Given the description of an element on the screen output the (x, y) to click on. 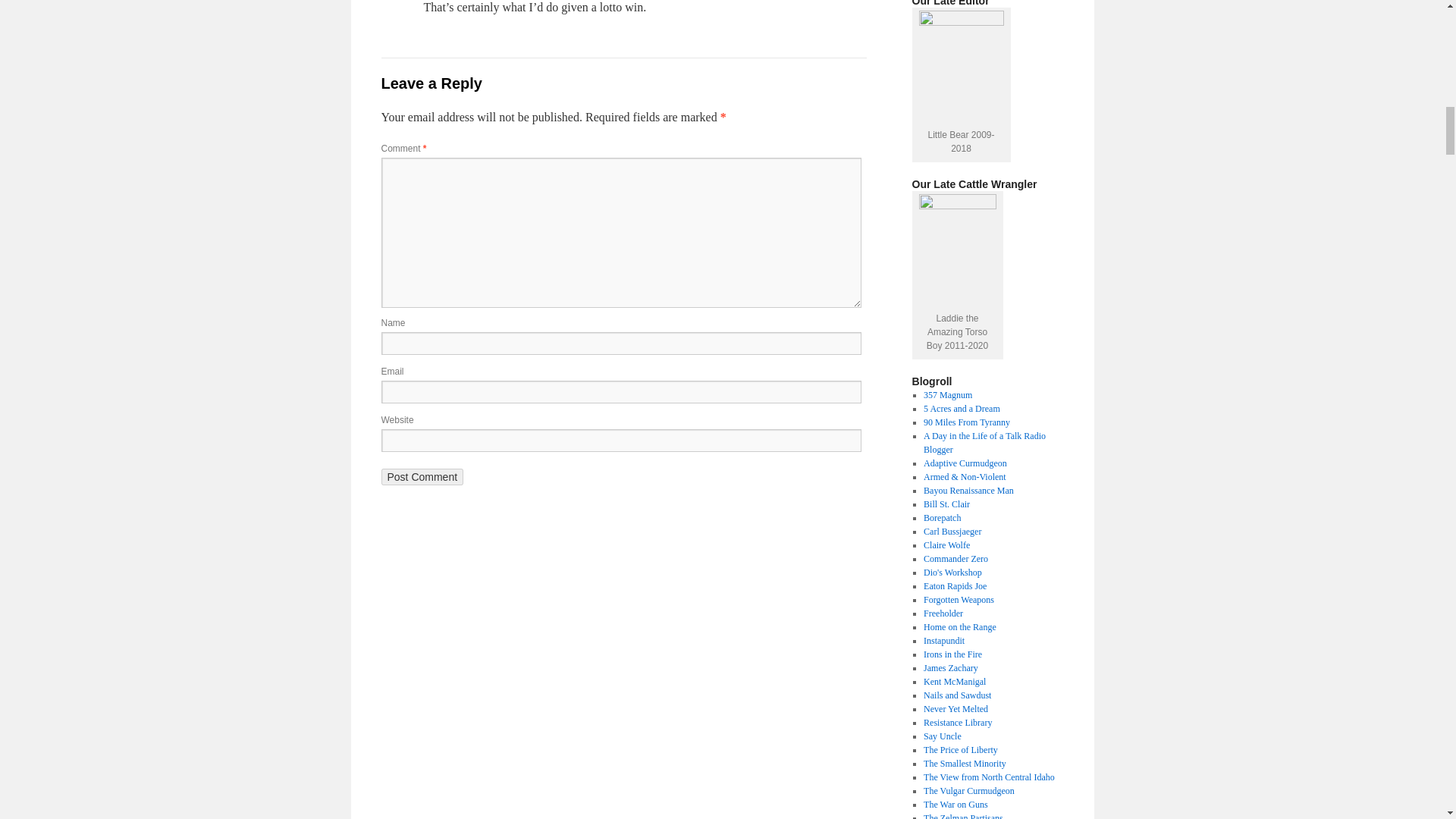
Post Comment (421, 476)
Adaptive Curmudgeon (965, 462)
Bayou Renaissance Man (968, 490)
5 Acres and a Dream (961, 408)
Post Comment (421, 476)
90 Miles From Tyranny (966, 421)
357 Magnum (947, 394)
Bill St. Clair (946, 503)
A Day in the Life of a Talk Radio Blogger (984, 442)
